Given the description of an element on the screen output the (x, y) to click on. 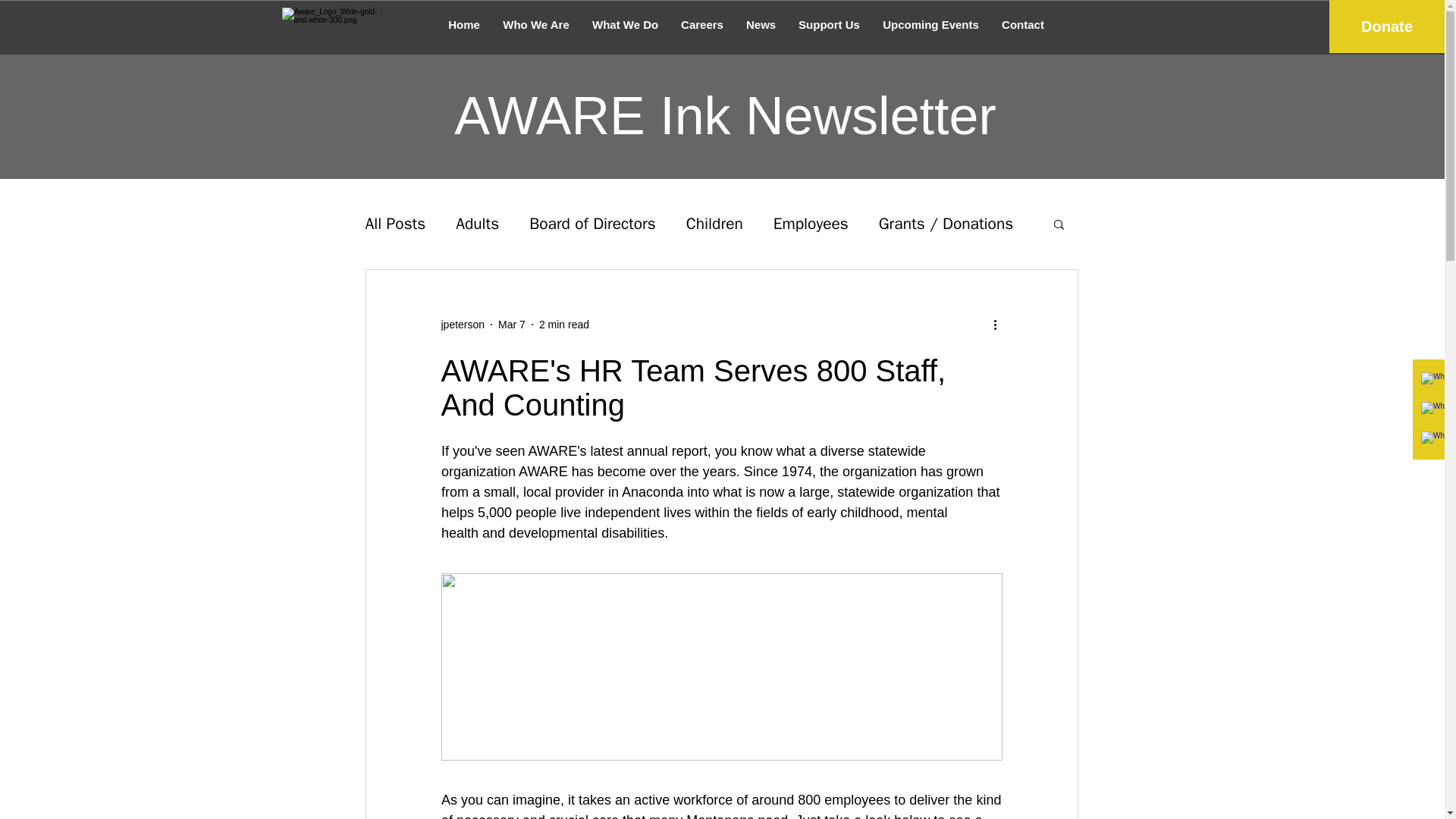
All Posts (395, 223)
Children (713, 223)
Who We Are (536, 24)
2 min read (563, 324)
Adults (477, 223)
Employees (810, 223)
Home (464, 24)
jpeterson (462, 324)
Mar 7 (511, 324)
Upcoming Events (930, 24)
